Given the description of an element on the screen output the (x, y) to click on. 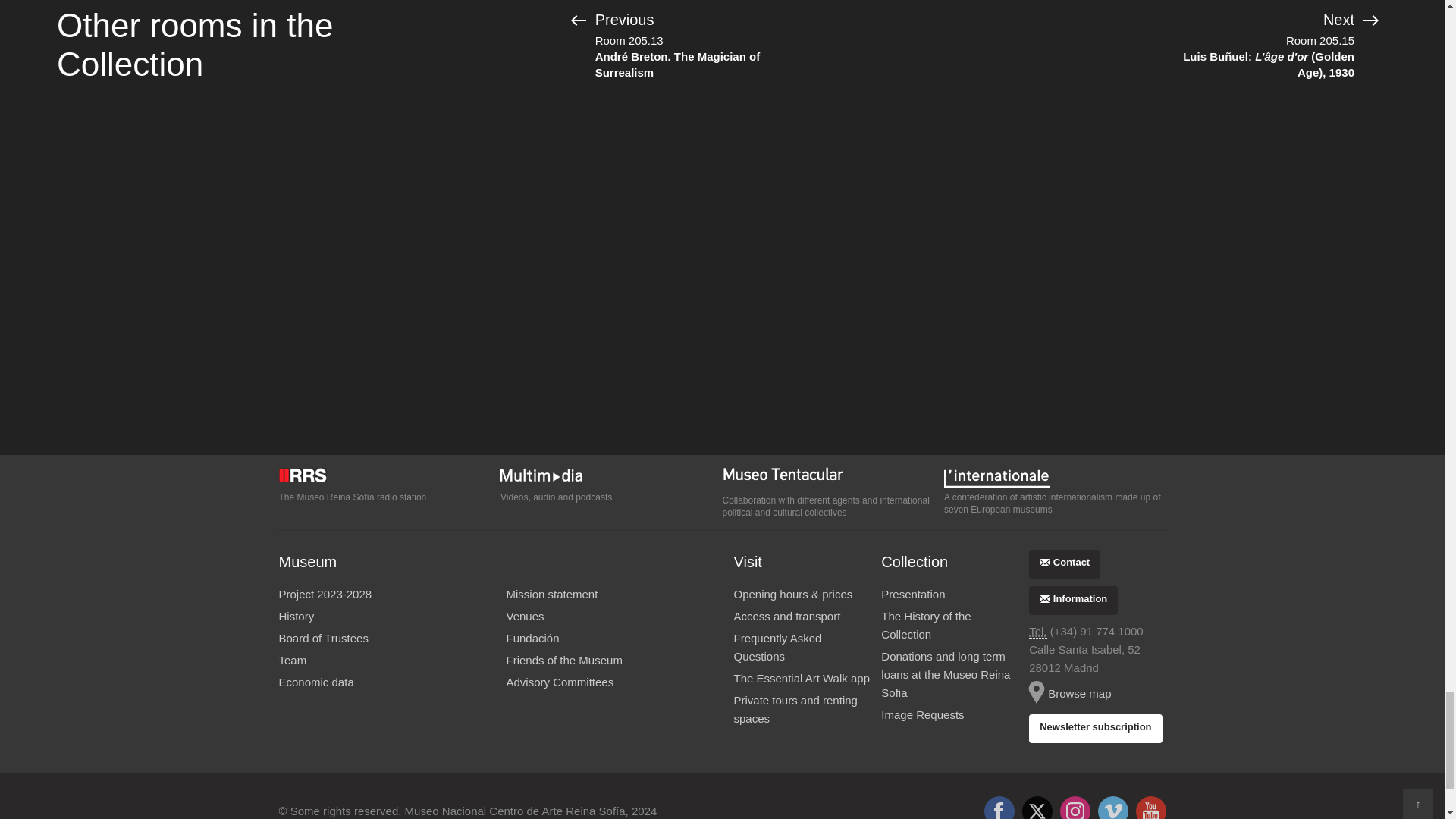
Museo tentacular (832, 478)
Linternationale (1054, 476)
Multimedia (611, 476)
